Given the description of an element on the screen output the (x, y) to click on. 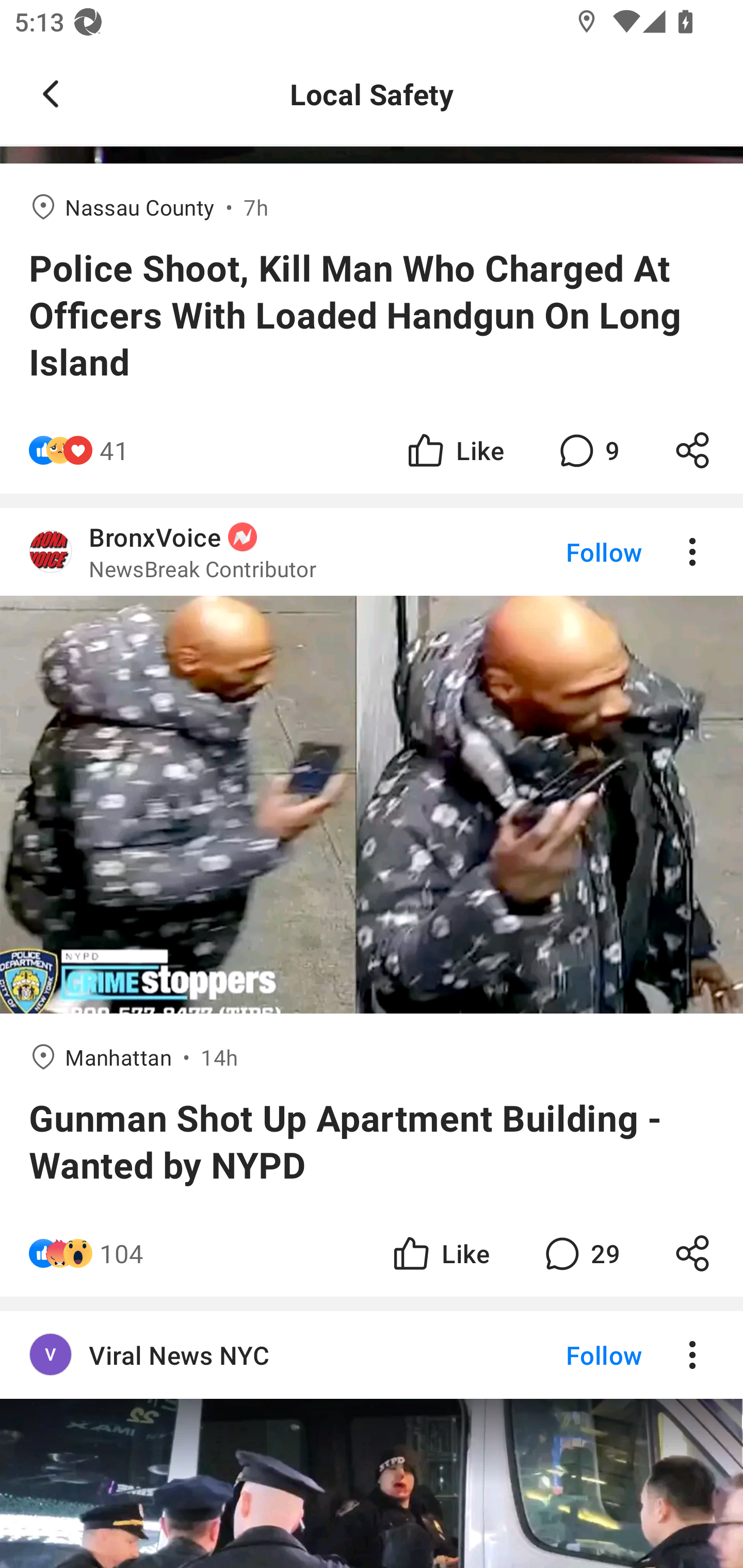
Navigate up (50, 93)
41 (114, 450)
Like (454, 450)
9 (587, 450)
BronxVoice NewsBreak Contributor Follow (371, 551)
Follow (569, 551)
104 (121, 1253)
Like (439, 1253)
29 (579, 1253)
Viral News NYC  Follow (371, 1354)
Follow (569, 1354)
